Given the description of an element on the screen output the (x, y) to click on. 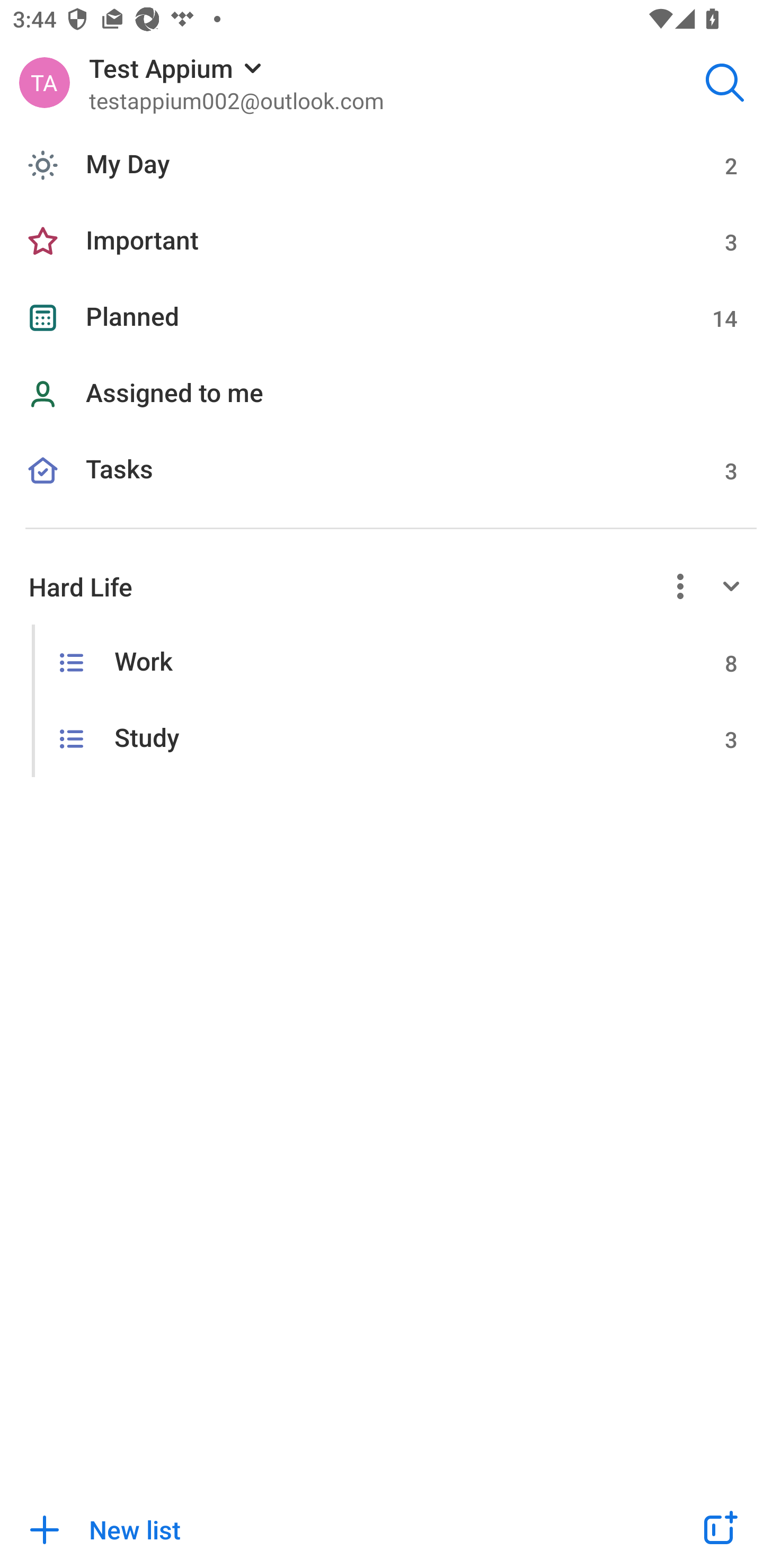
Study, 3 tasks Study 3 (381, 738)
